Given the description of an element on the screen output the (x, y) to click on. 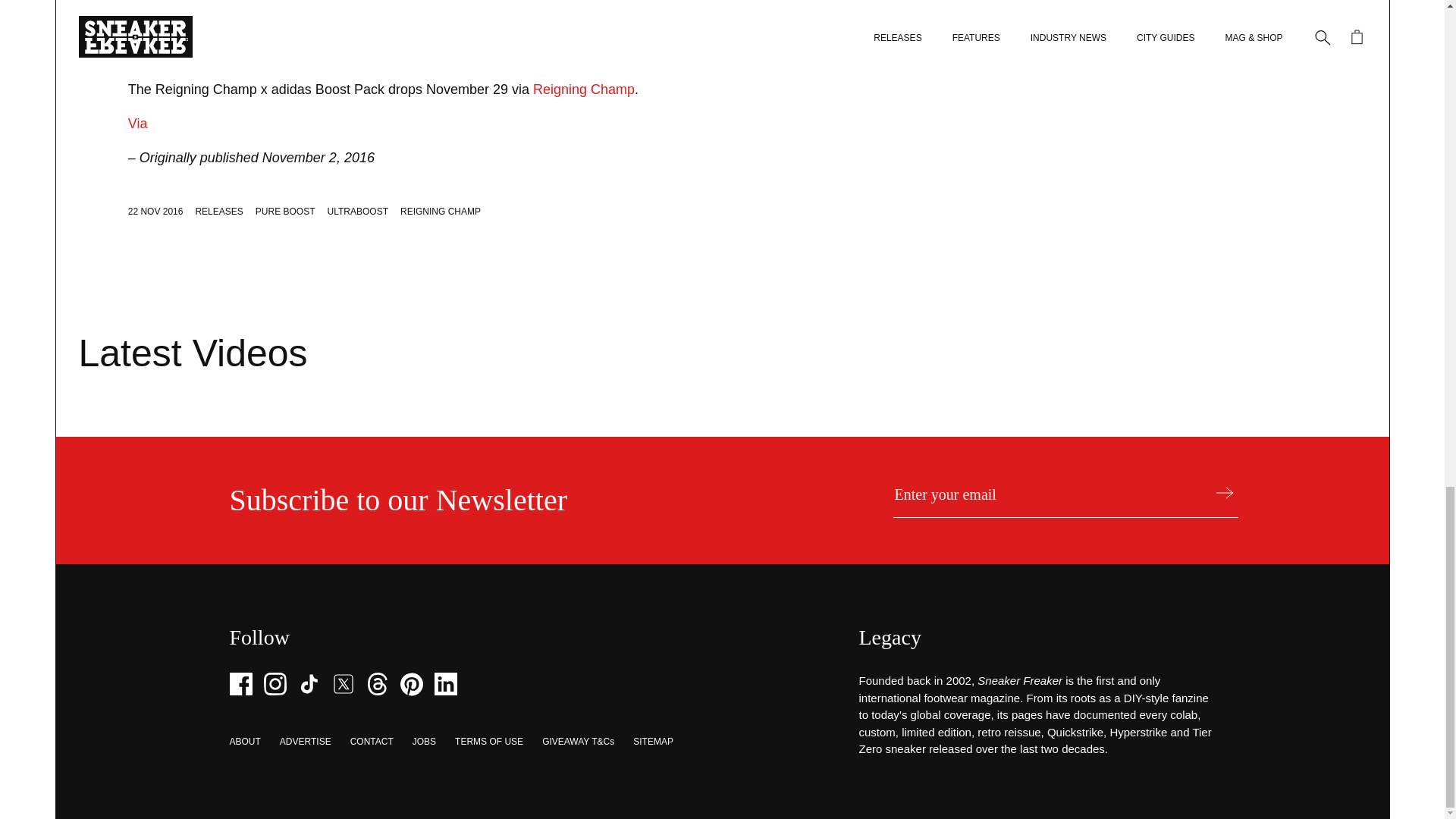
ABOUT (244, 741)
Via (138, 123)
RELEASES (219, 211)
SITEMAP (652, 741)
JOBS (423, 741)
Reigning Champ (583, 89)
PURE BOOST (285, 211)
CONTACT (371, 741)
REIGNING CHAMP (440, 211)
ULTRABOOST (357, 211)
TERMS OF USE (488, 741)
ADVERTISE (305, 741)
